Given the description of an element on the screen output the (x, y) to click on. 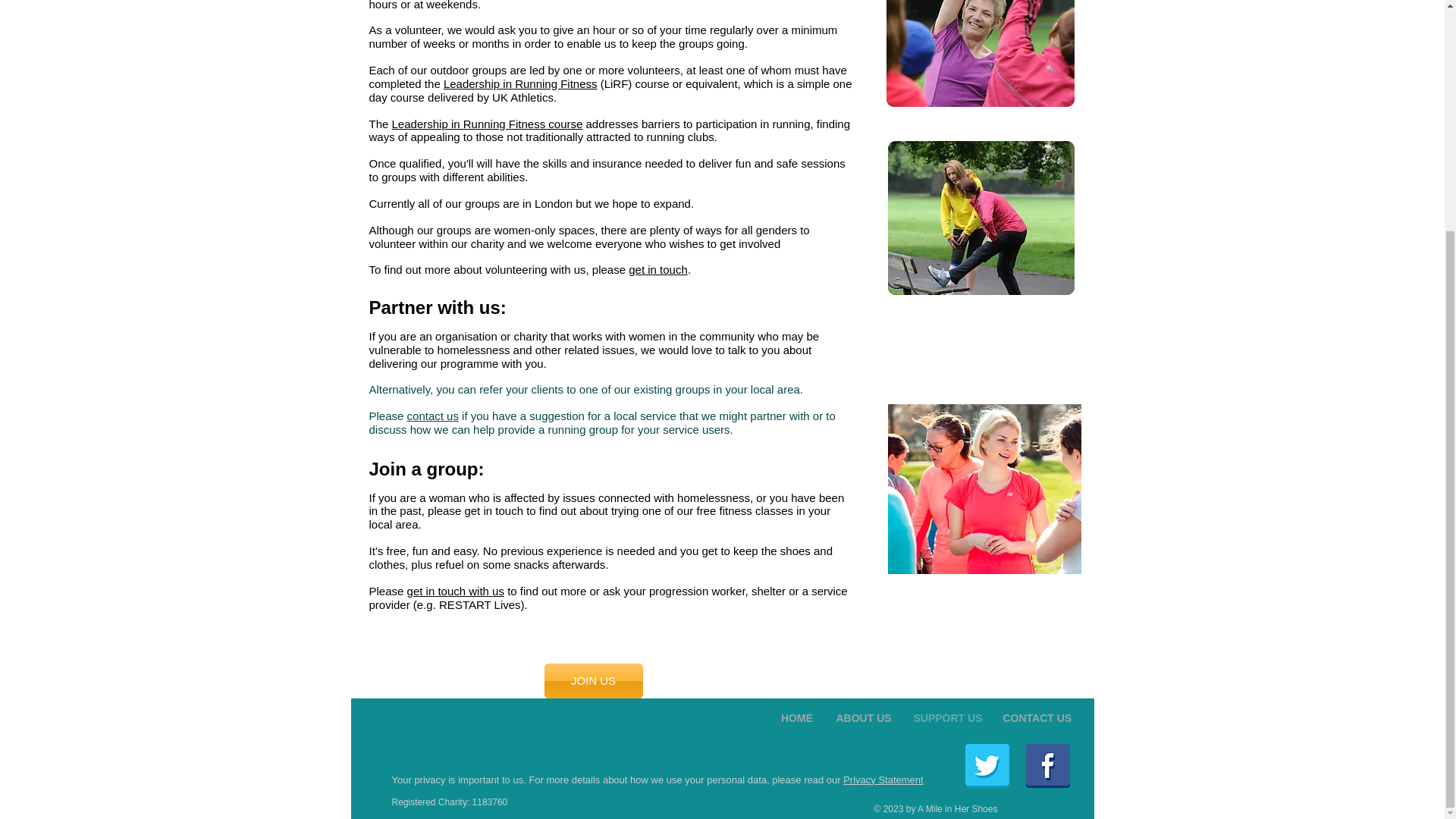
Leadership in Running Fitness course (487, 123)
SUPPORT US (946, 717)
ABOUT US (863, 717)
JOIN US (593, 680)
HOME (796, 717)
get in touch (657, 269)
CONTACT US (1036, 717)
Privacy Statement (883, 779)
get in touch with us (455, 590)
Leadership in Running Fitness (520, 83)
contact us (432, 415)
